Given the description of an element on the screen output the (x, y) to click on. 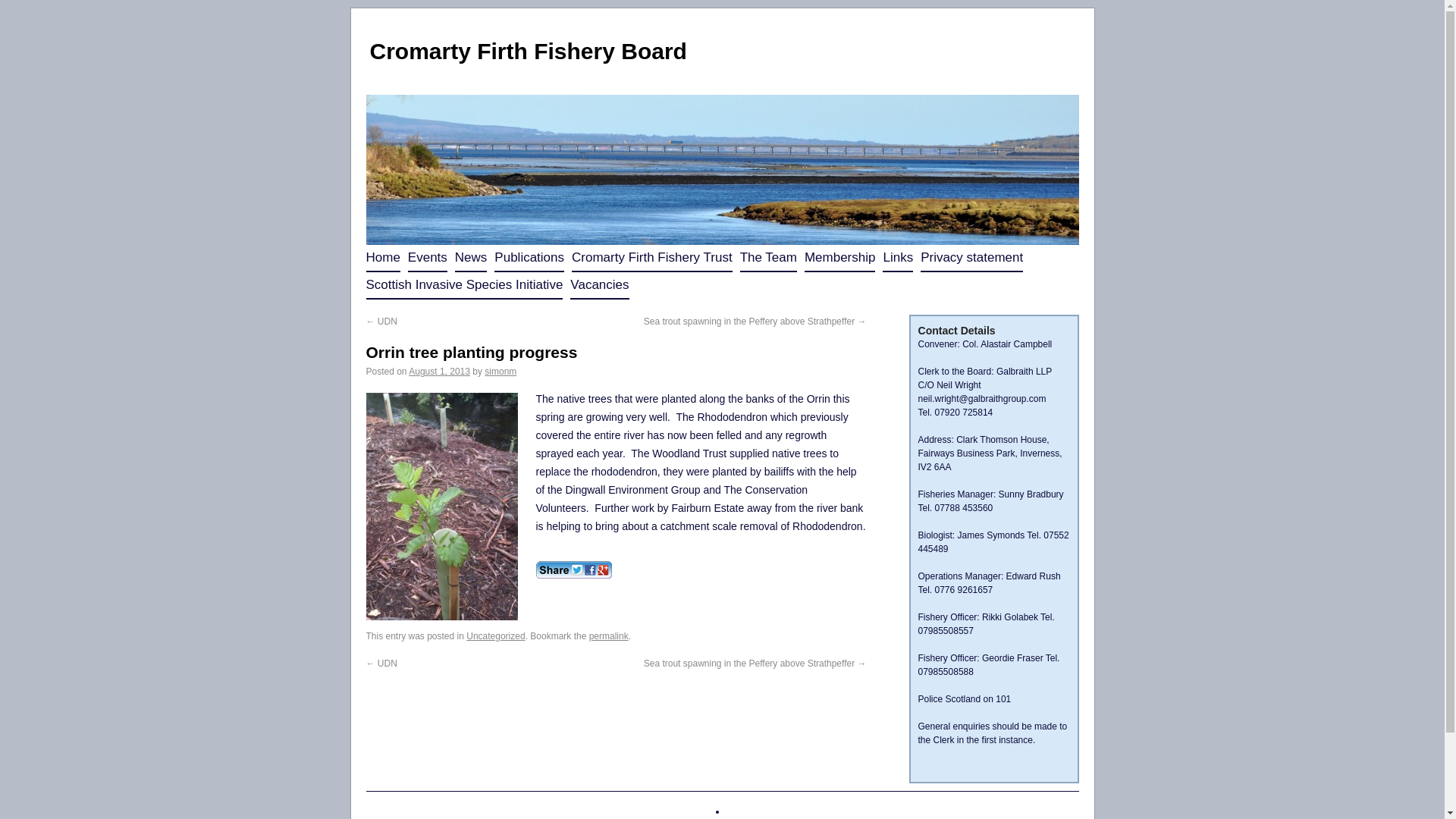
simonm (500, 371)
Vacancies (599, 285)
Events (426, 257)
August 1, 2013 (439, 371)
Publications (529, 257)
Privacy statement (971, 257)
permalink (608, 635)
10:28 am (439, 371)
Cromarty Firth Fishery Board (528, 50)
Scottish Invasive Species Initiative (463, 285)
